Given the description of an element on the screen output the (x, y) to click on. 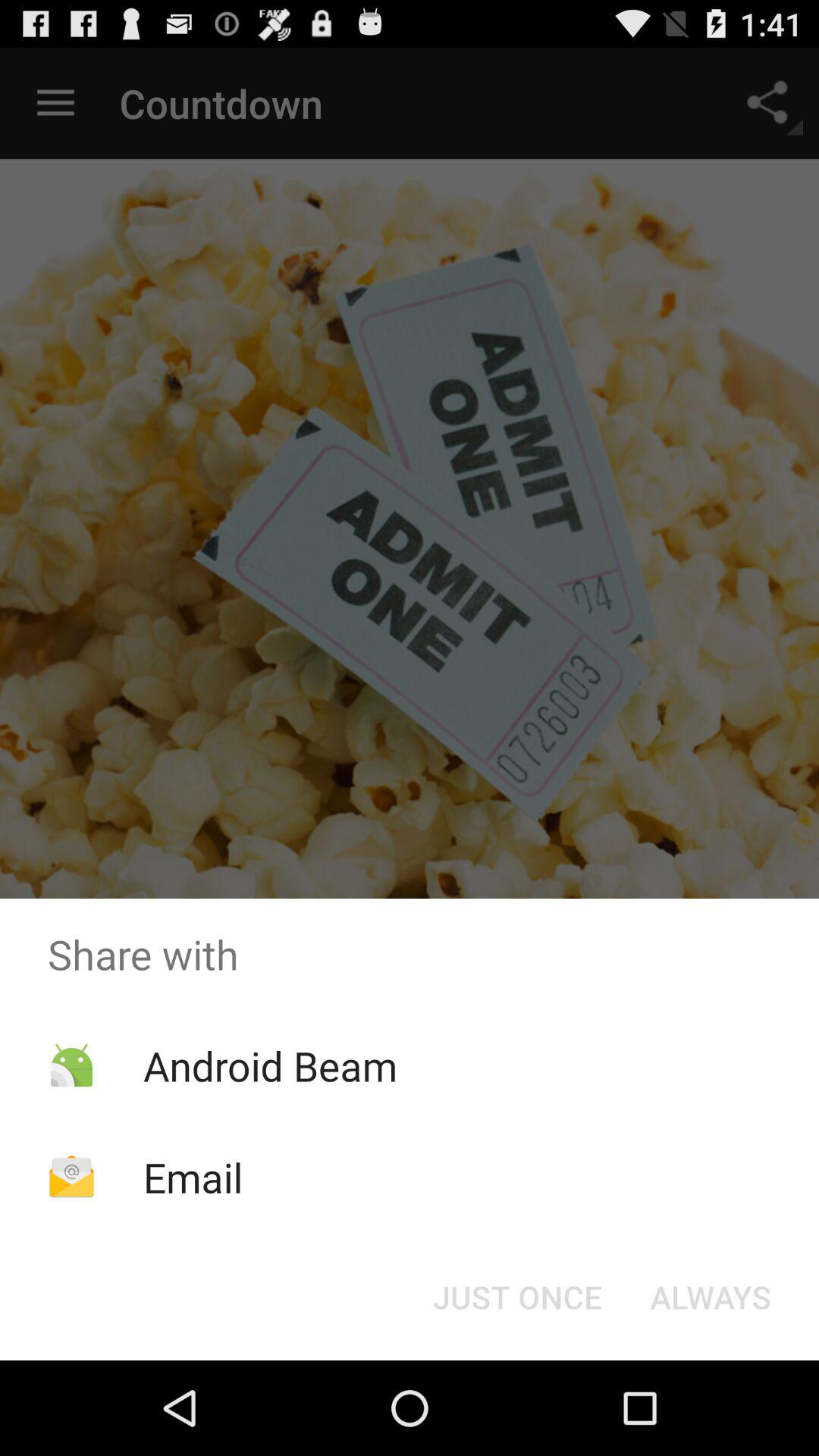
launch the android beam app (270, 1065)
